Given the description of an element on the screen output the (x, y) to click on. 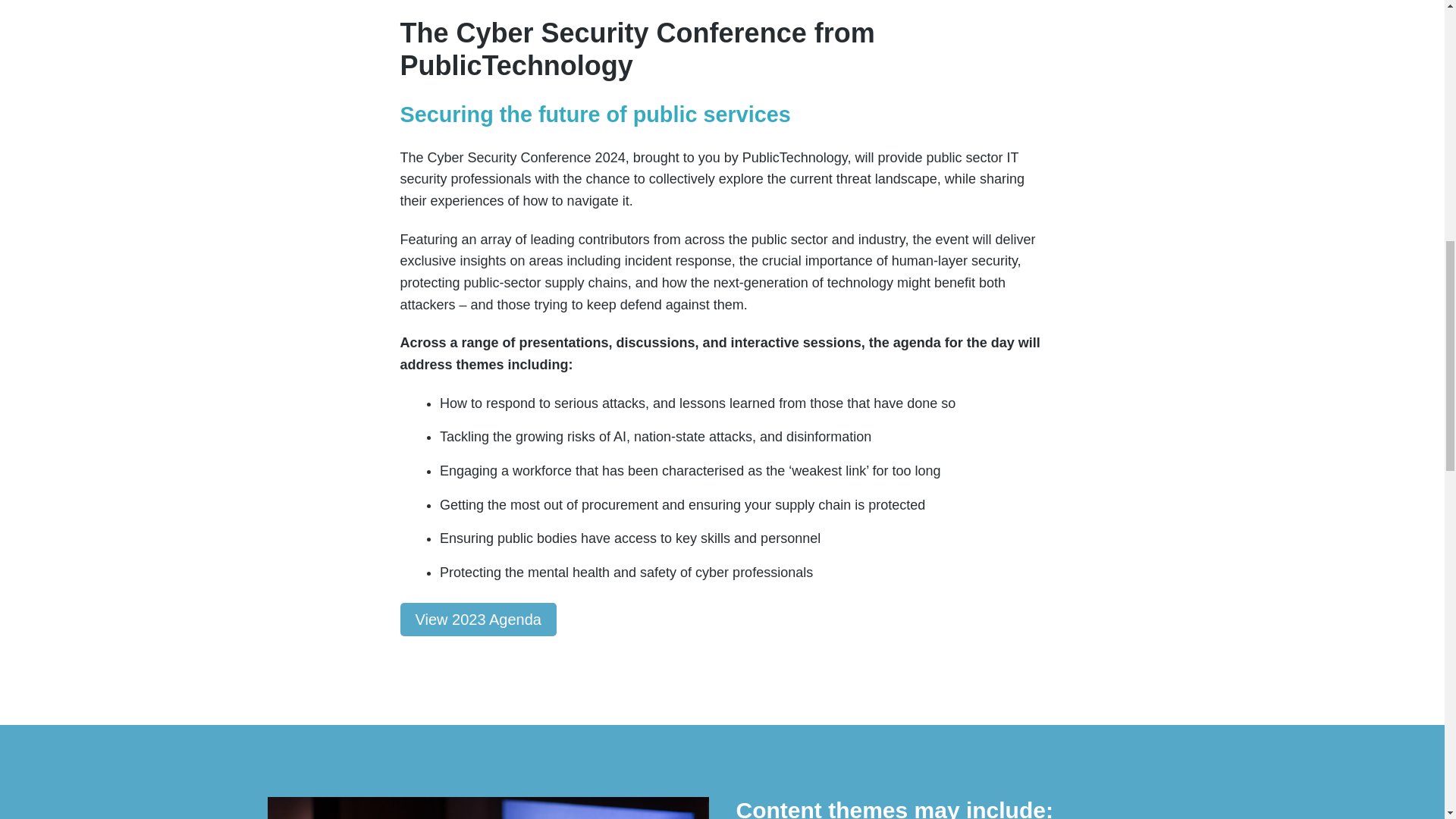
View 2023 Agenda (478, 619)
